Given the description of an element on the screen output the (x, y) to click on. 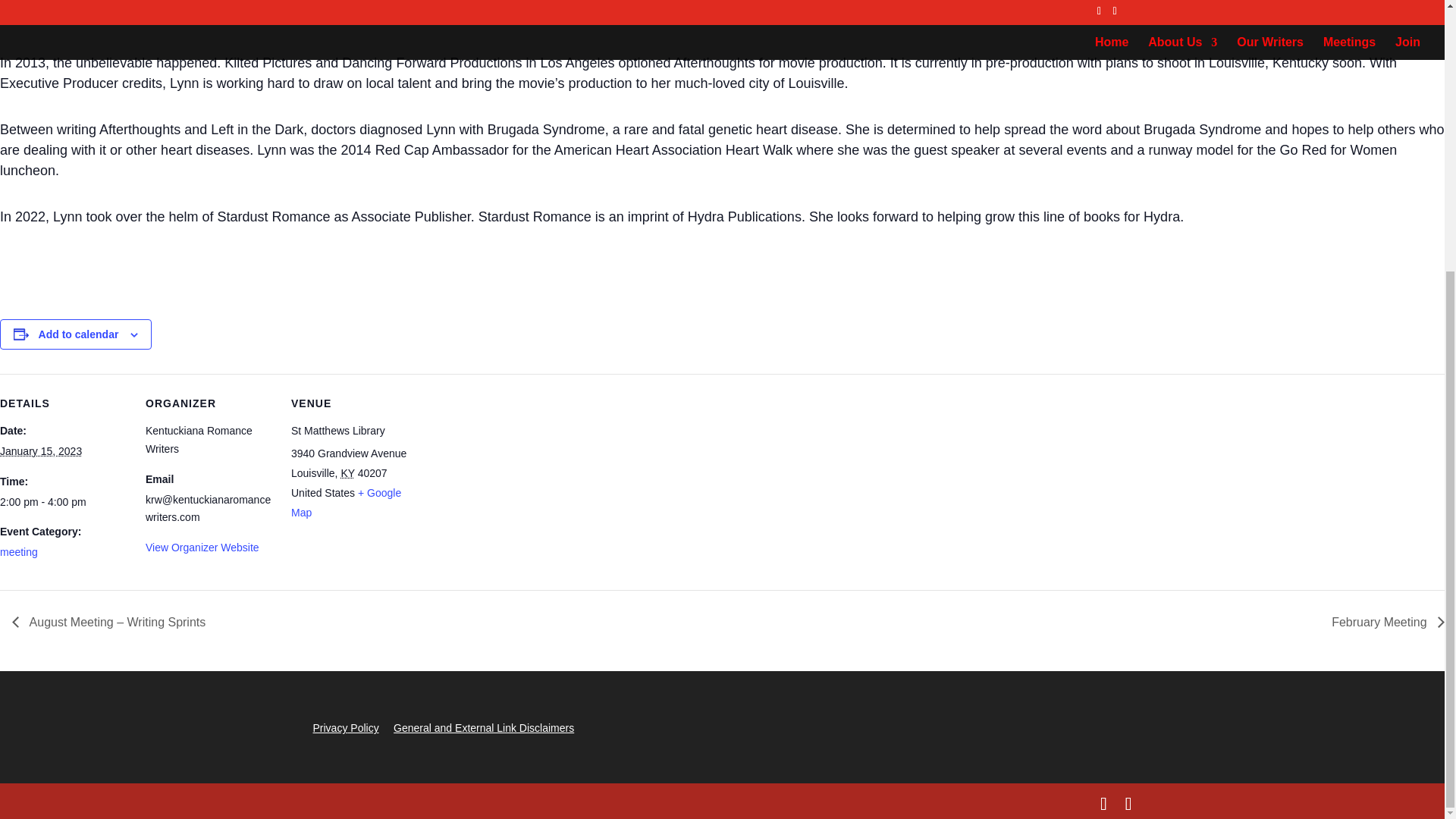
Privacy (330, 727)
Kentucky (346, 472)
2023-01-15 (40, 451)
Add to calendar (79, 334)
meeting (18, 551)
2023-01-15 (64, 502)
General and External Link Disclaimers (483, 727)
Policy (362, 727)
Click to view a Google Map (346, 502)
View Organizer Website (202, 547)
